Given the description of an element on the screen output the (x, y) to click on. 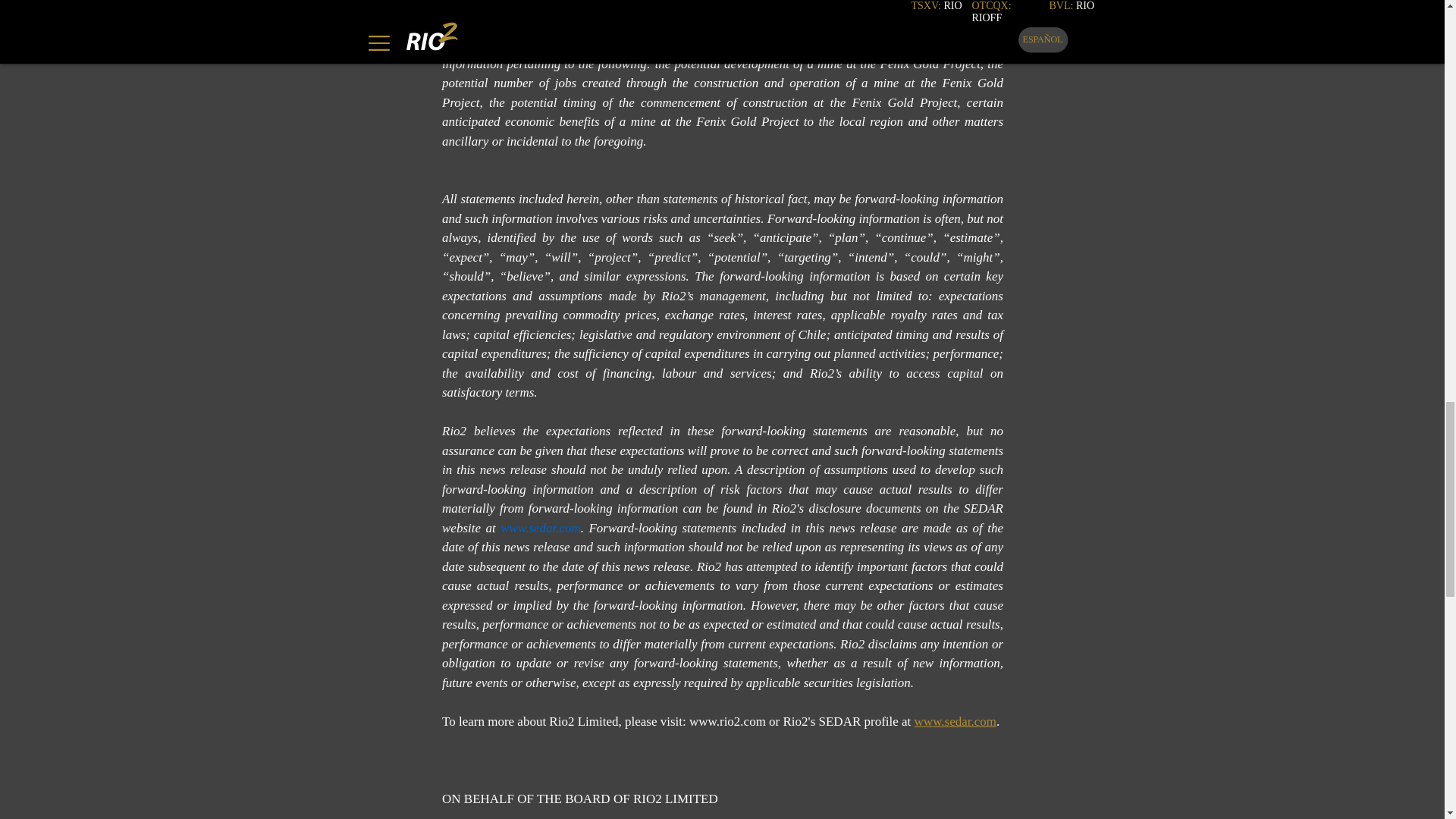
www.sedar.com (954, 721)
